Given the description of an element on the screen output the (x, y) to click on. 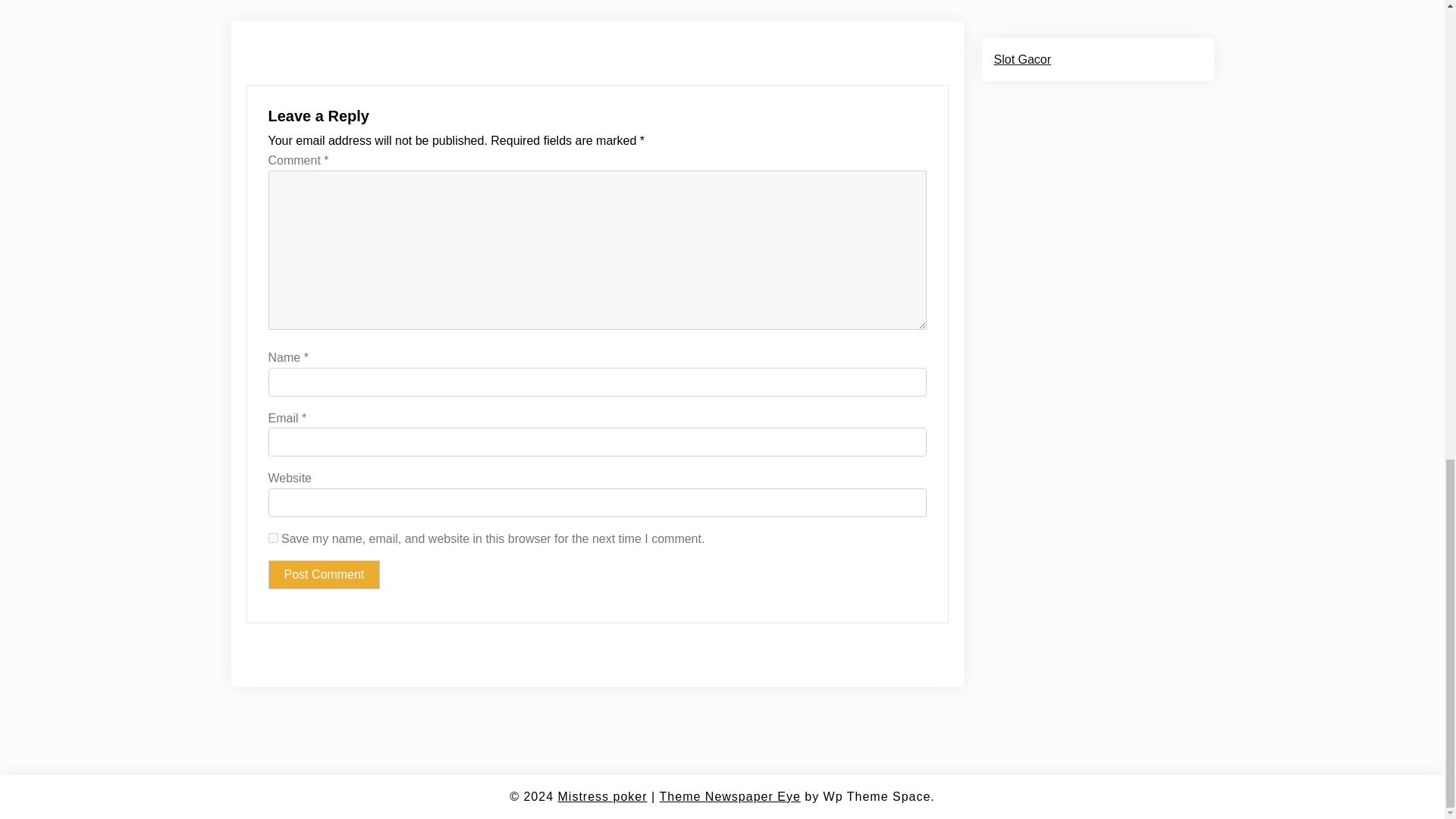
Post Comment (323, 574)
yes (272, 537)
